Given the description of an element on the screen output the (x, y) to click on. 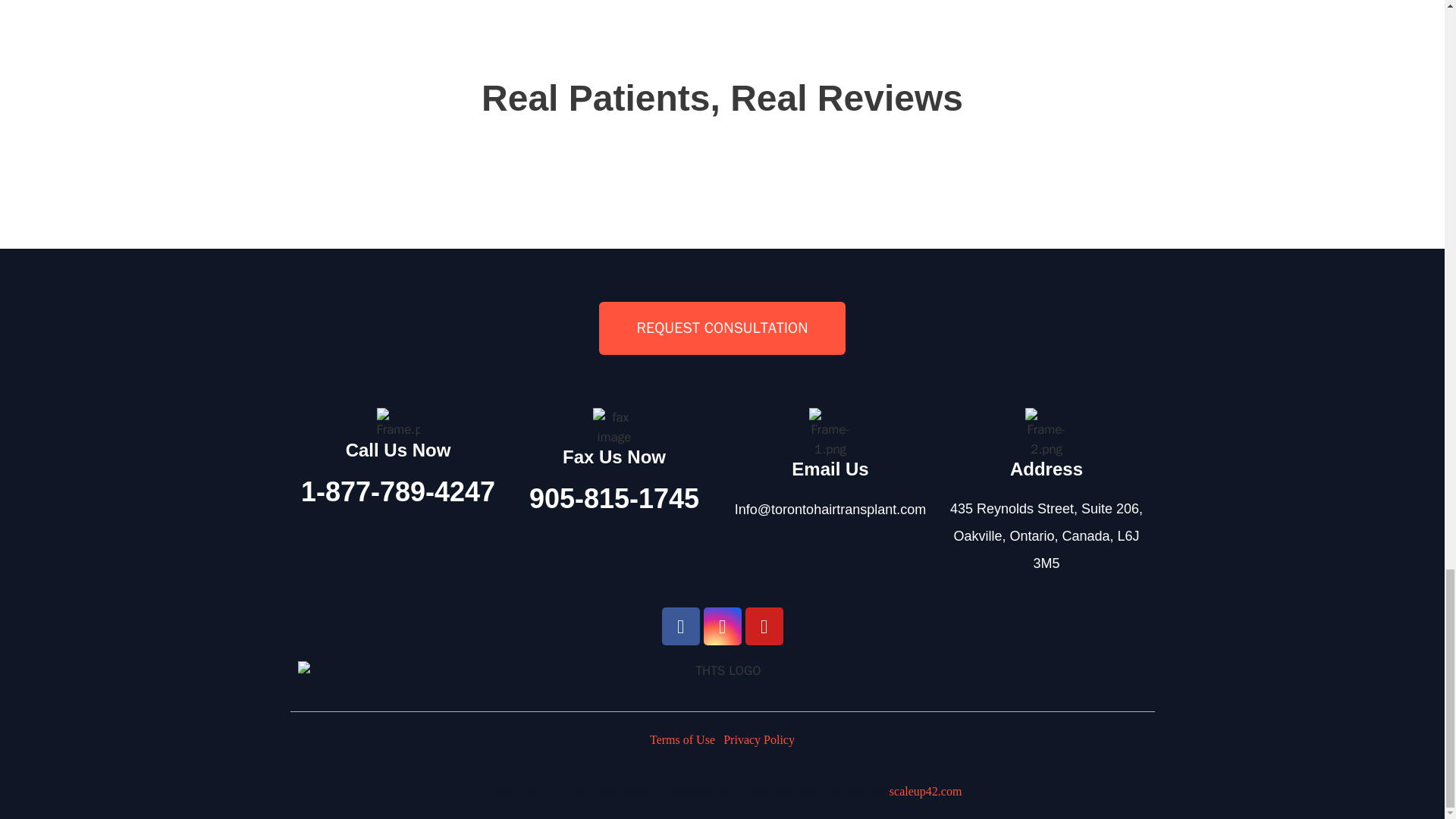
Frame-2.png (1046, 432)
Frame.png (397, 423)
Frame-1.png (829, 432)
fax image (614, 426)
CORAL FOOTER (722, 670)
